Given the description of an element on the screen output the (x, y) to click on. 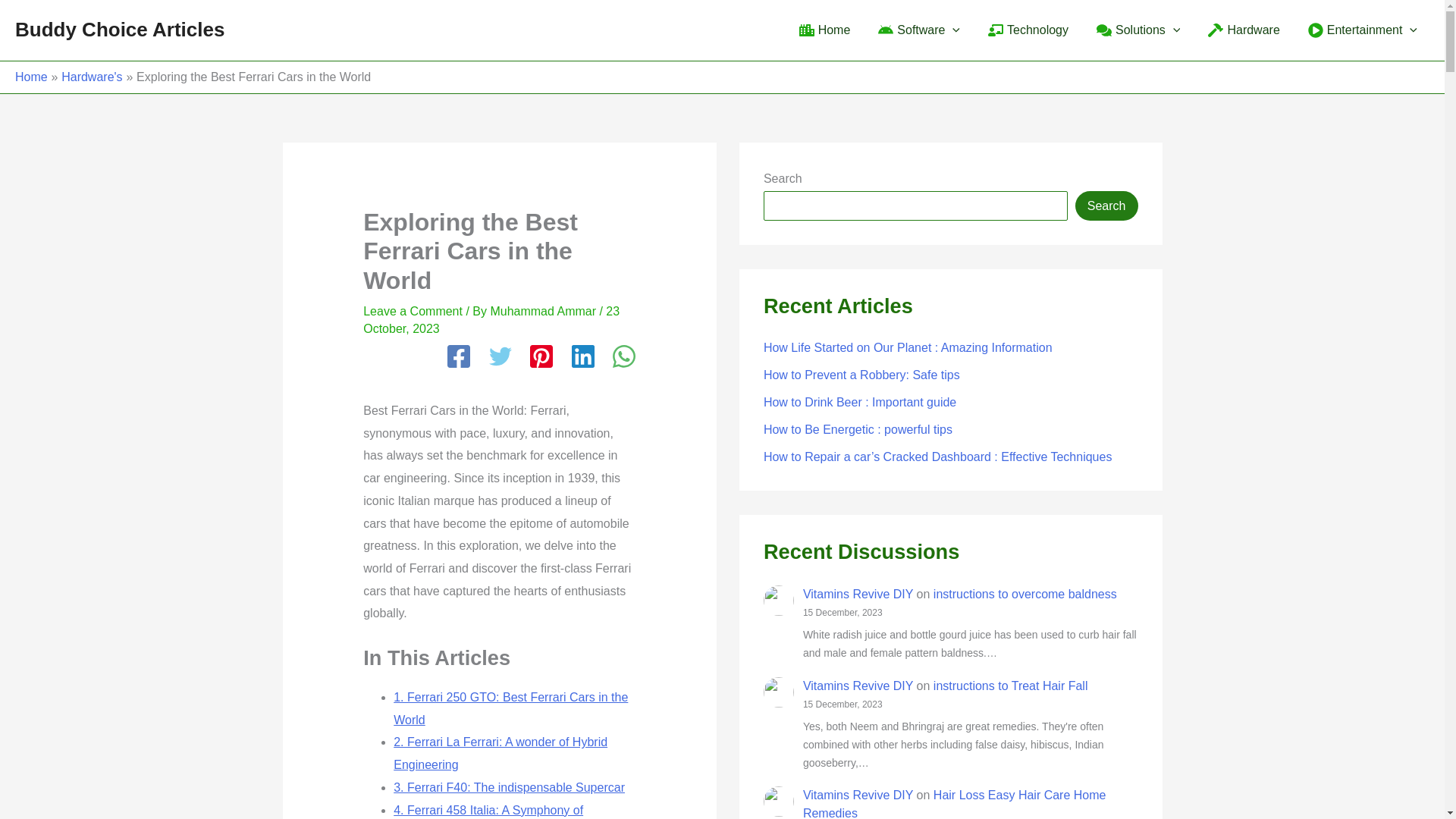
Solutions (1136, 30)
Buddy Choice Articles (119, 29)
Software (916, 30)
View all posts by Muhammad Ammar (543, 310)
Home (823, 30)
Entertainment (1360, 30)
Hardware (1241, 30)
Technology (1026, 30)
